Given the description of an element on the screen output the (x, y) to click on. 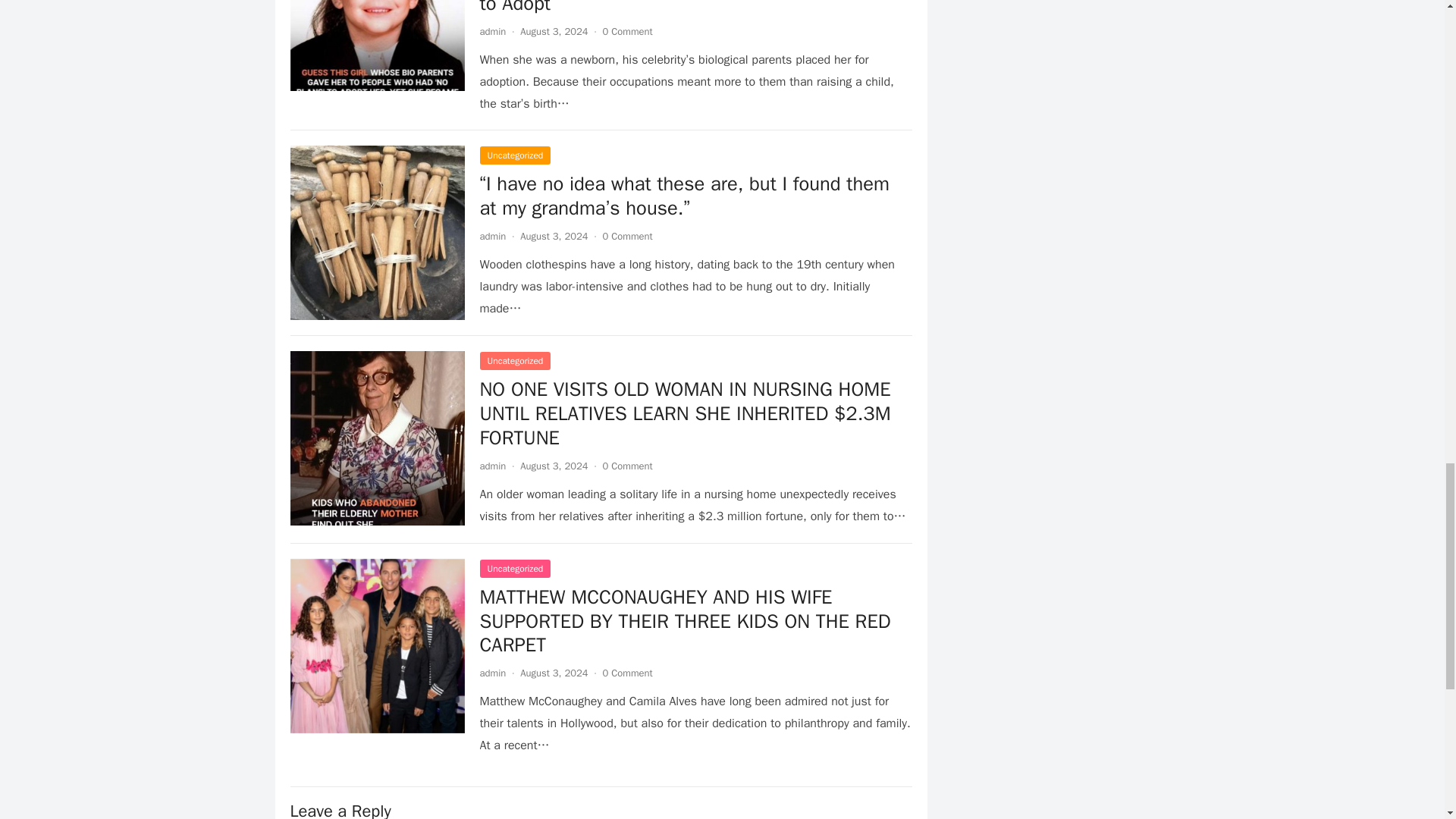
Uncategorized (514, 155)
Posts by admin (492, 672)
0 Comment (627, 31)
admin (492, 31)
admin (492, 236)
admin (492, 465)
0 Comment (627, 465)
Posts by admin (492, 465)
Uncategorized (514, 361)
Posts by admin (492, 236)
0 Comment (627, 236)
Uncategorized (514, 568)
Posts by admin (492, 31)
